Given the description of an element on the screen output the (x, y) to click on. 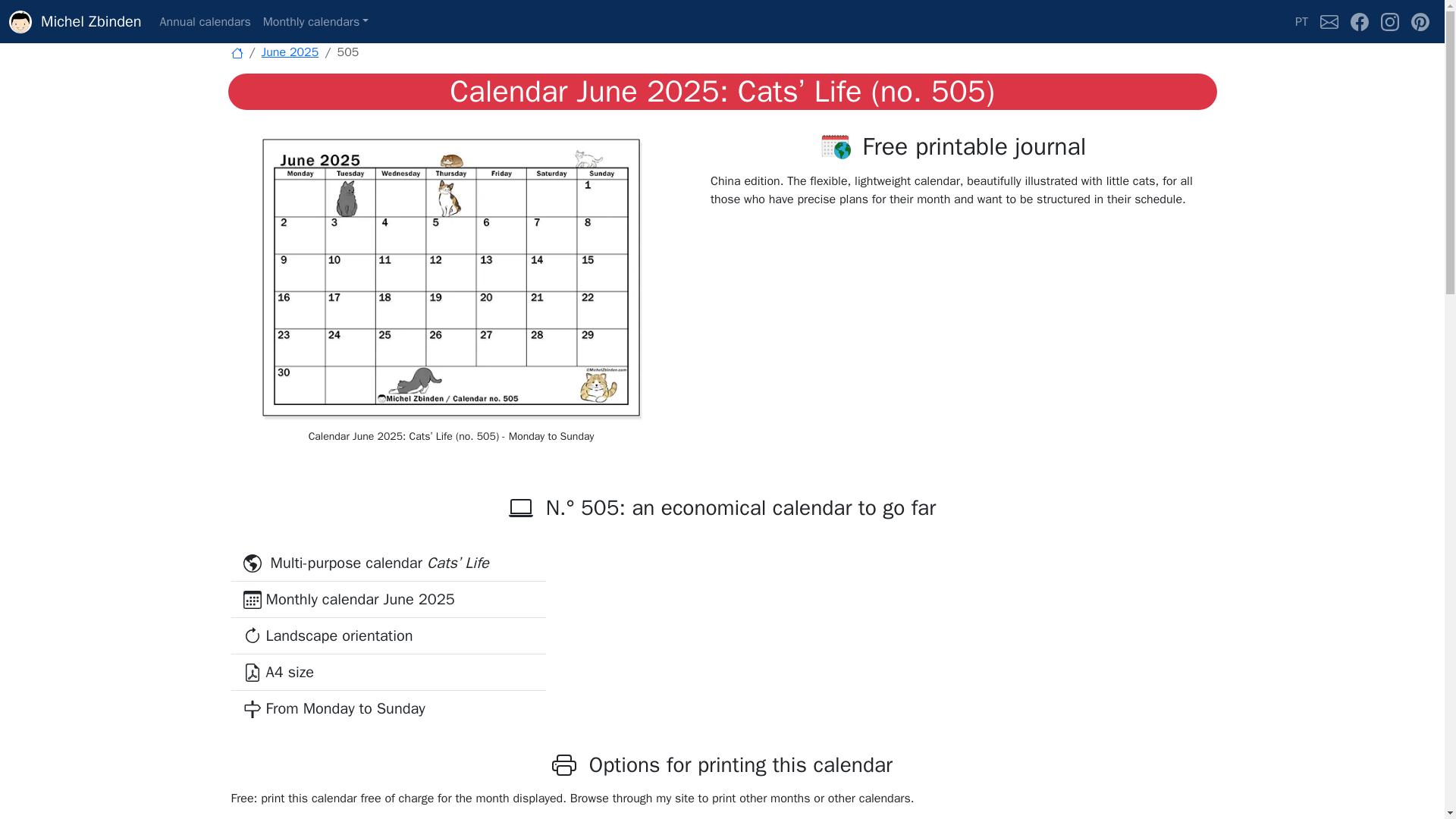
Michel Zbinden EN (236, 52)
Pinterest (1420, 20)
PT (1301, 20)
Monthly calendars (316, 20)
Annual calendars (205, 20)
Facebook (1358, 20)
Email (1328, 20)
Instagram (1389, 20)
  Michel Zbinden (74, 20)
June 2025 (290, 52)
